Given the description of an element on the screen output the (x, y) to click on. 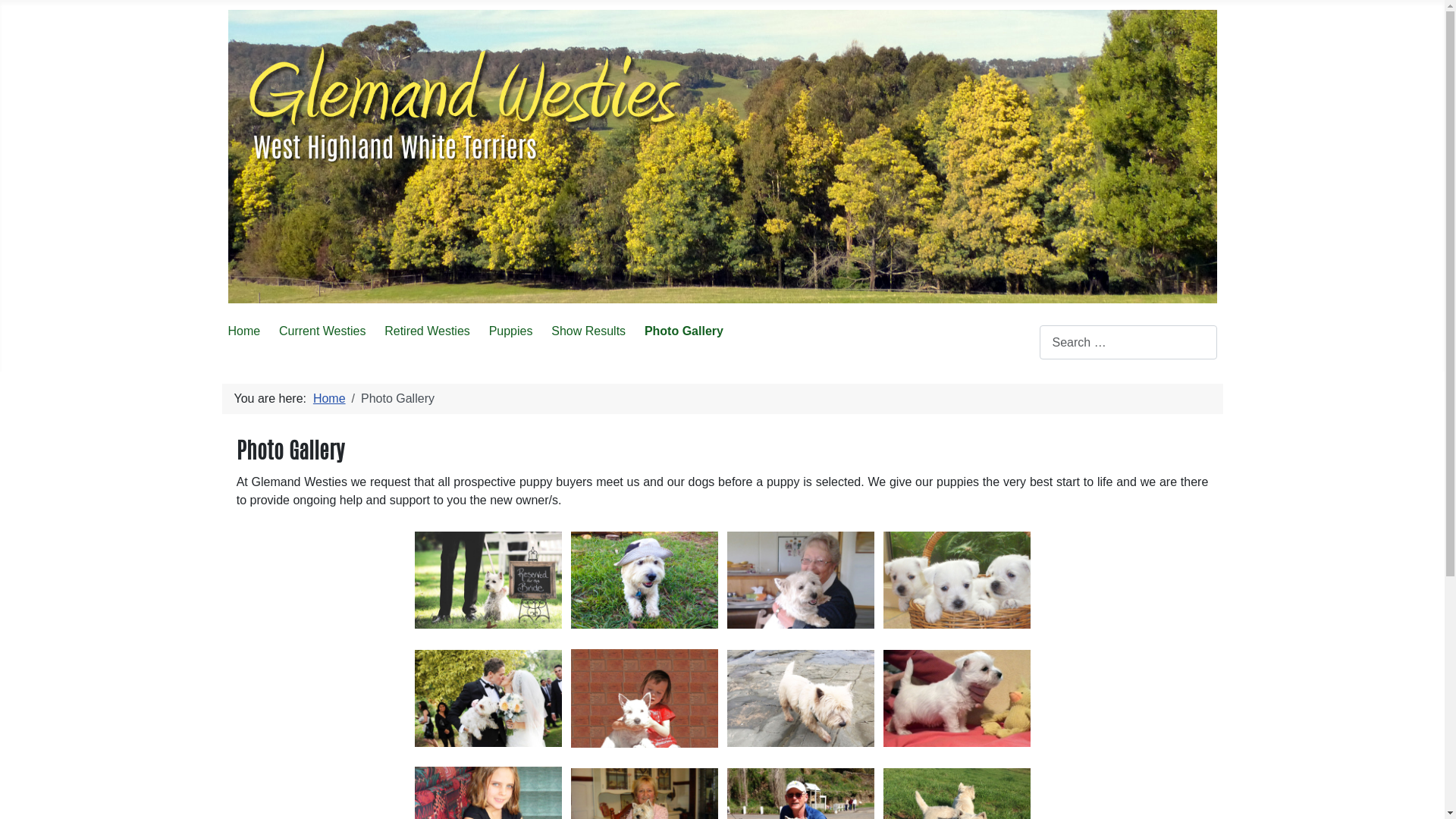
 (6/16) Element type: hover (644, 697)
Retired Westies Element type: text (427, 330)
Photo Gallery Element type: text (683, 330)
Show Results Element type: text (588, 330)
 (1/16) Element type: hover (488, 579)
 (14/16) Element type: hover (956, 698)
Puppies Element type: text (511, 330)
Current Westies Element type: text (322, 330)
 (5/16) Element type: hover (644, 579)
 (2/16) Element type: hover (488, 698)
 (13/16) Element type: hover (956, 579)
 (10/16) Element type: hover (800, 698)
 (9/16) Element type: hover (800, 579)
Home Element type: text (329, 398)
Home Element type: text (243, 330)
